Given the description of an element on the screen output the (x, y) to click on. 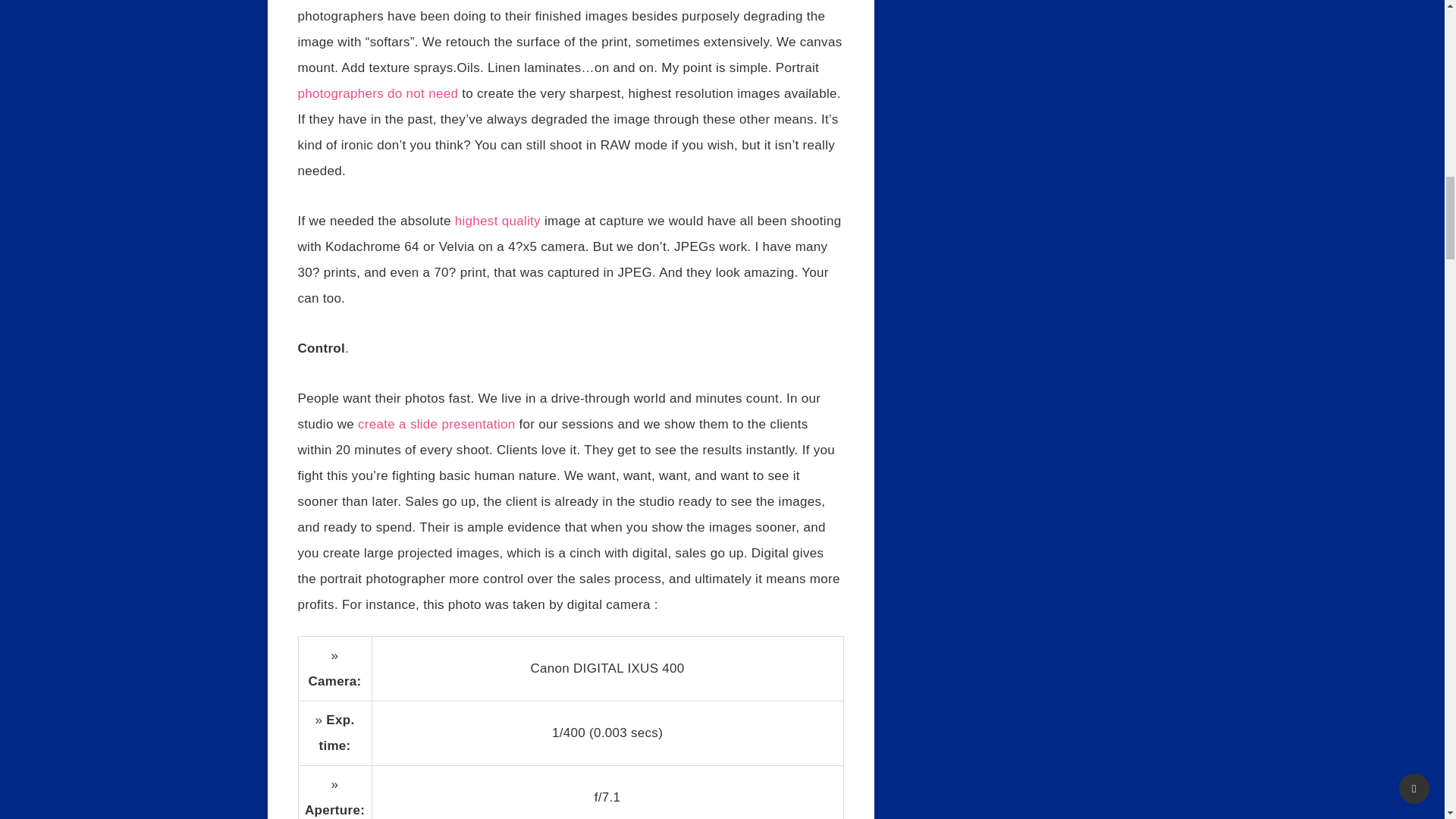
photographers do not need (377, 93)
Why Your Business Needs Professional Photographs (377, 93)
highest quality (497, 220)
create a slide presentation (436, 423)
